Given the description of an element on the screen output the (x, y) to click on. 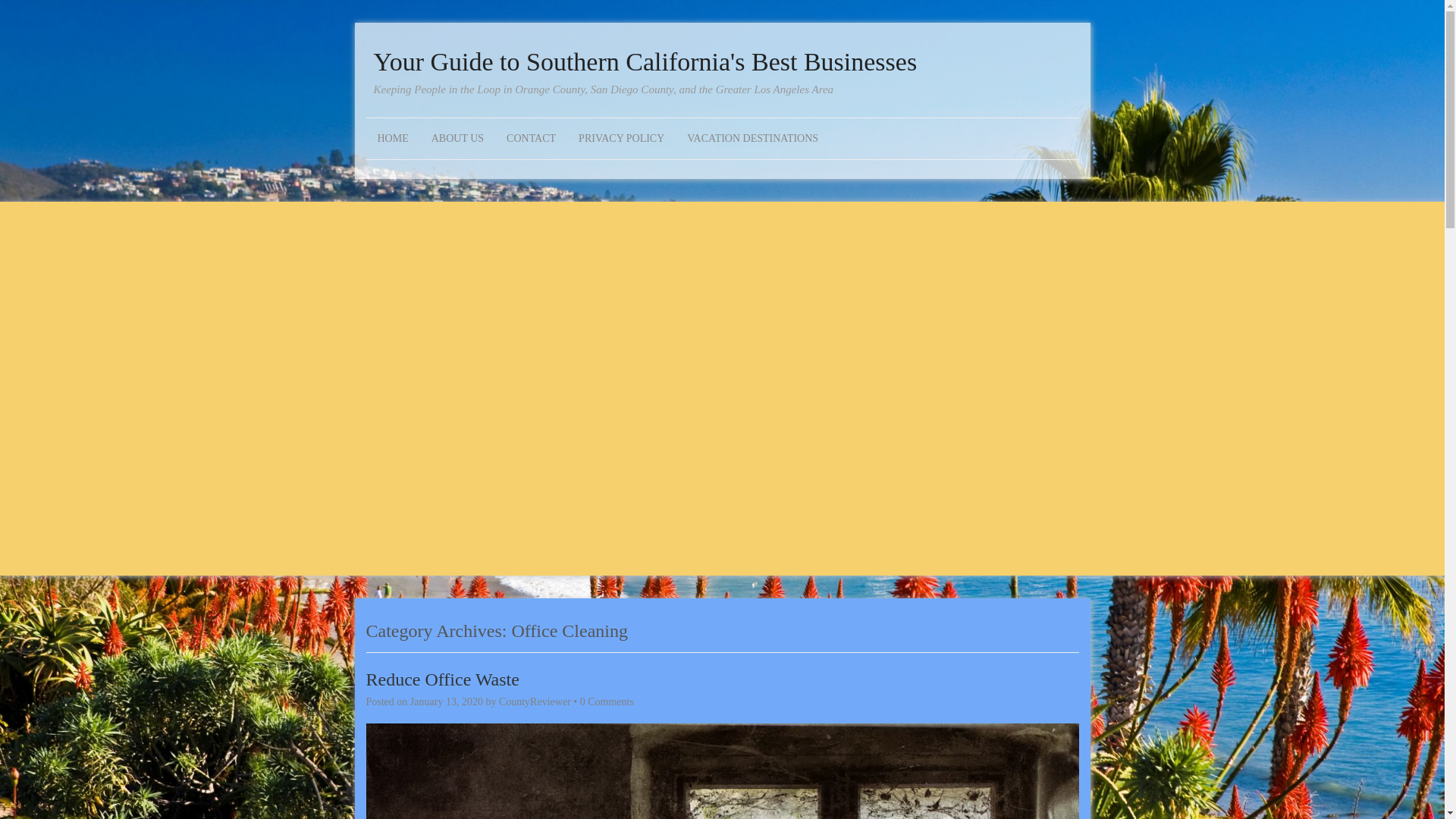
Reduce Office Waste (441, 679)
Reduce Office Waste (441, 679)
0 Comments (606, 701)
CountyReviewer (534, 701)
Your Guide to Southern California's Best Businesses (721, 62)
HOME (392, 137)
View all posts by CountyReviewer (534, 701)
CONTACT (531, 137)
ABOUT US (457, 137)
PRIVACY POLICY (621, 137)
VACATION DESTINATIONS (752, 137)
